Given the description of an element on the screen output the (x, y) to click on. 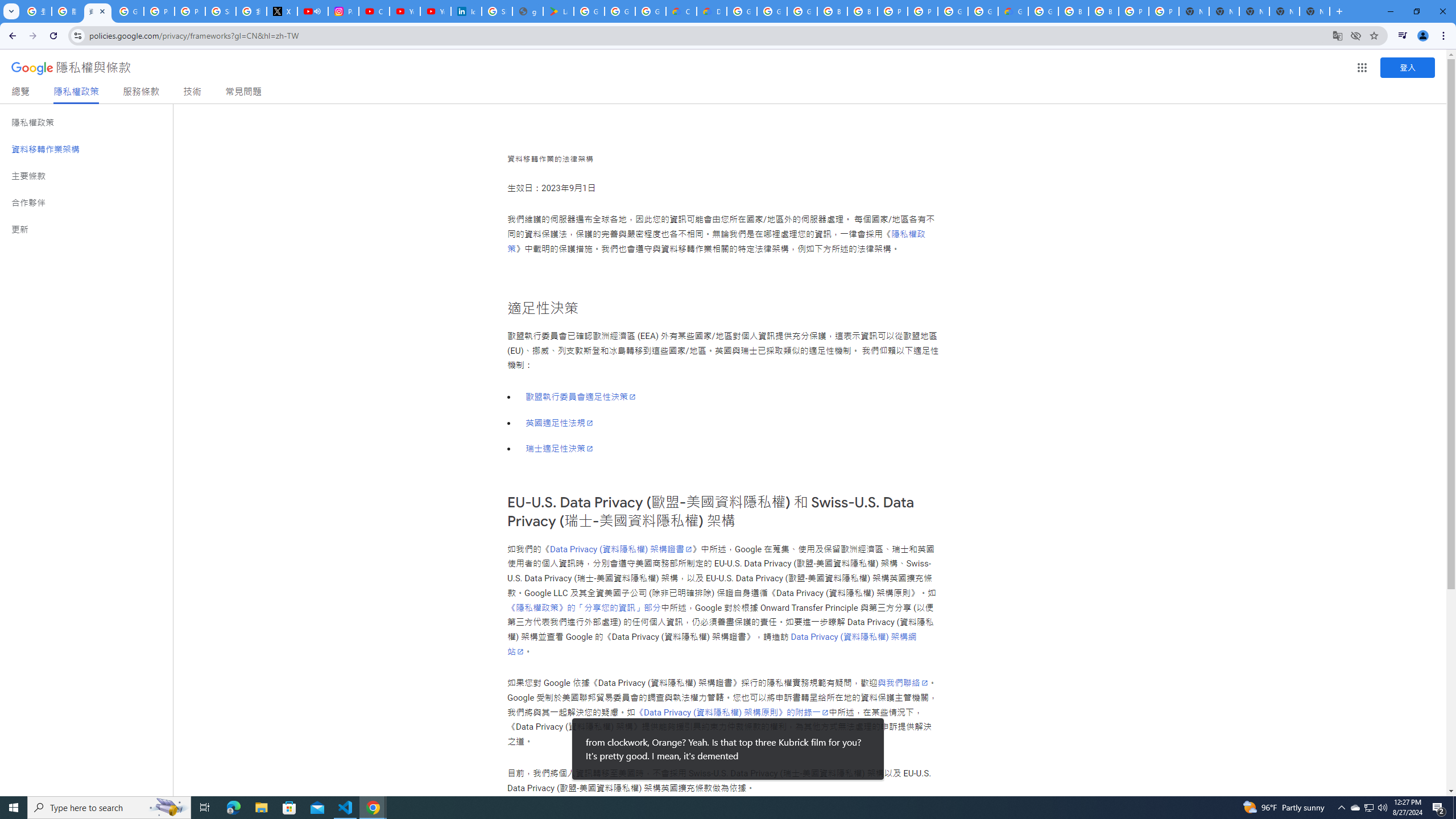
Browse Chrome as a guest - Computer - Google Chrome Help (832, 11)
Google Cloud Platform (741, 11)
